Given the description of an element on the screen output the (x, y) to click on. 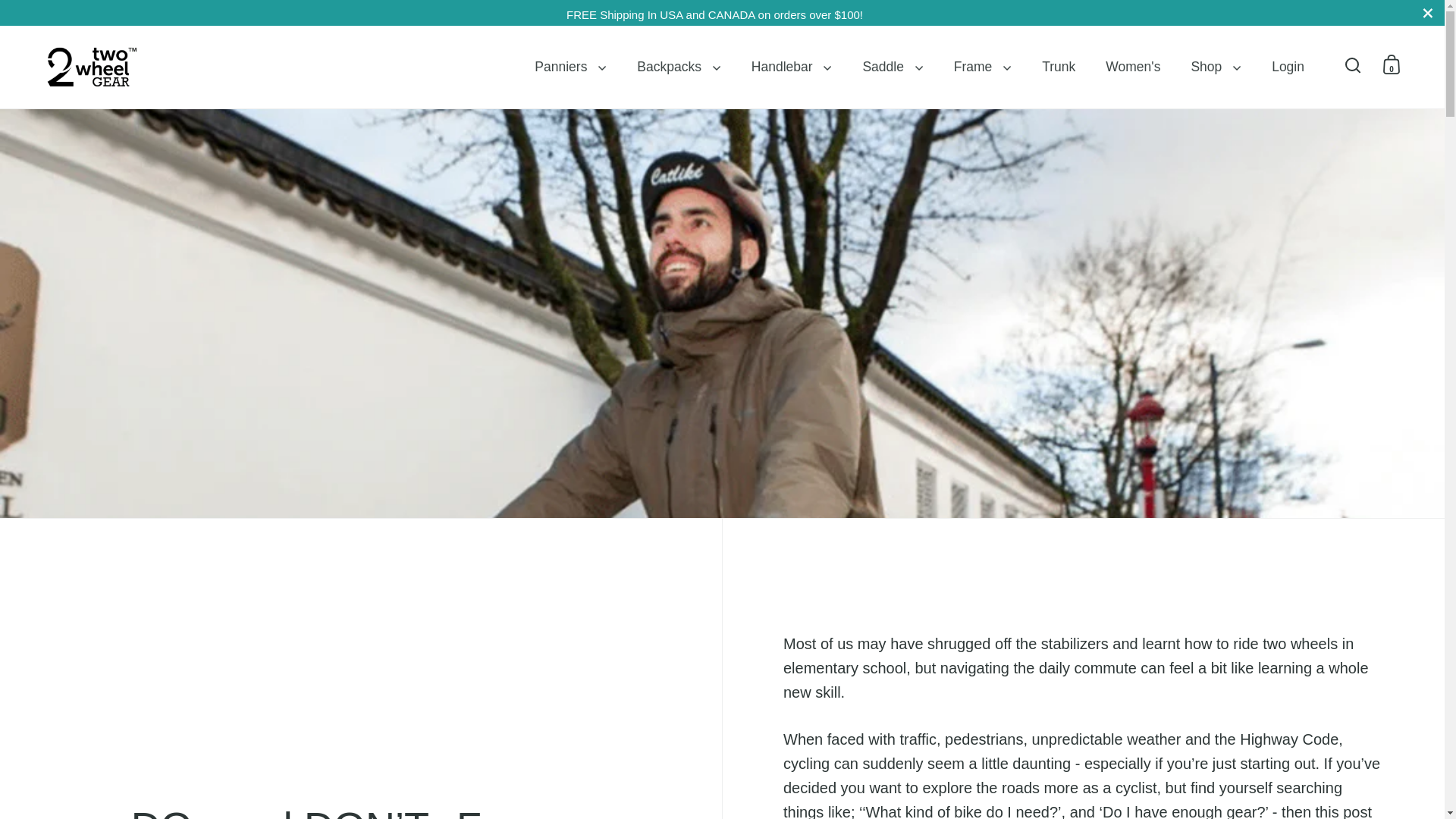
Women's (1132, 67)
Trunk (1058, 67)
Backpacks (678, 67)
Shop (1215, 67)
Frame (982, 67)
Saddle (892, 67)
Open search (1353, 64)
Panniers (570, 67)
Login (1287, 67)
